Given the description of an element on the screen output the (x, y) to click on. 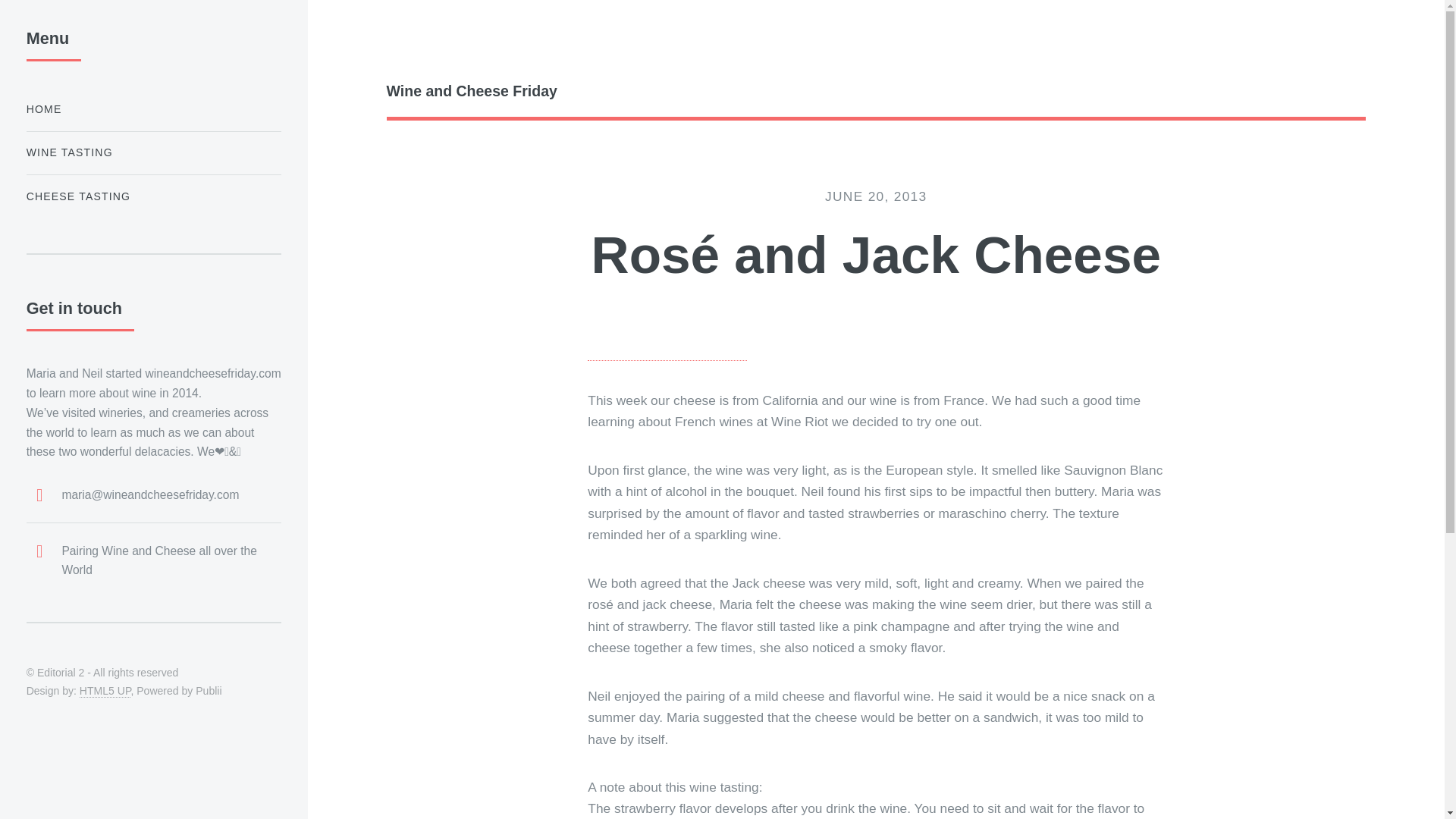
WINE TASTING (153, 153)
HTML5 UP (105, 690)
Wine and Cheese Friday (153, 109)
HOME (153, 109)
CHEESE TASTING (153, 196)
Wine and Cheese Friday (876, 90)
Cheese Tasting (153, 196)
Wine Tasting (153, 153)
